Given the description of an element on the screen output the (x, y) to click on. 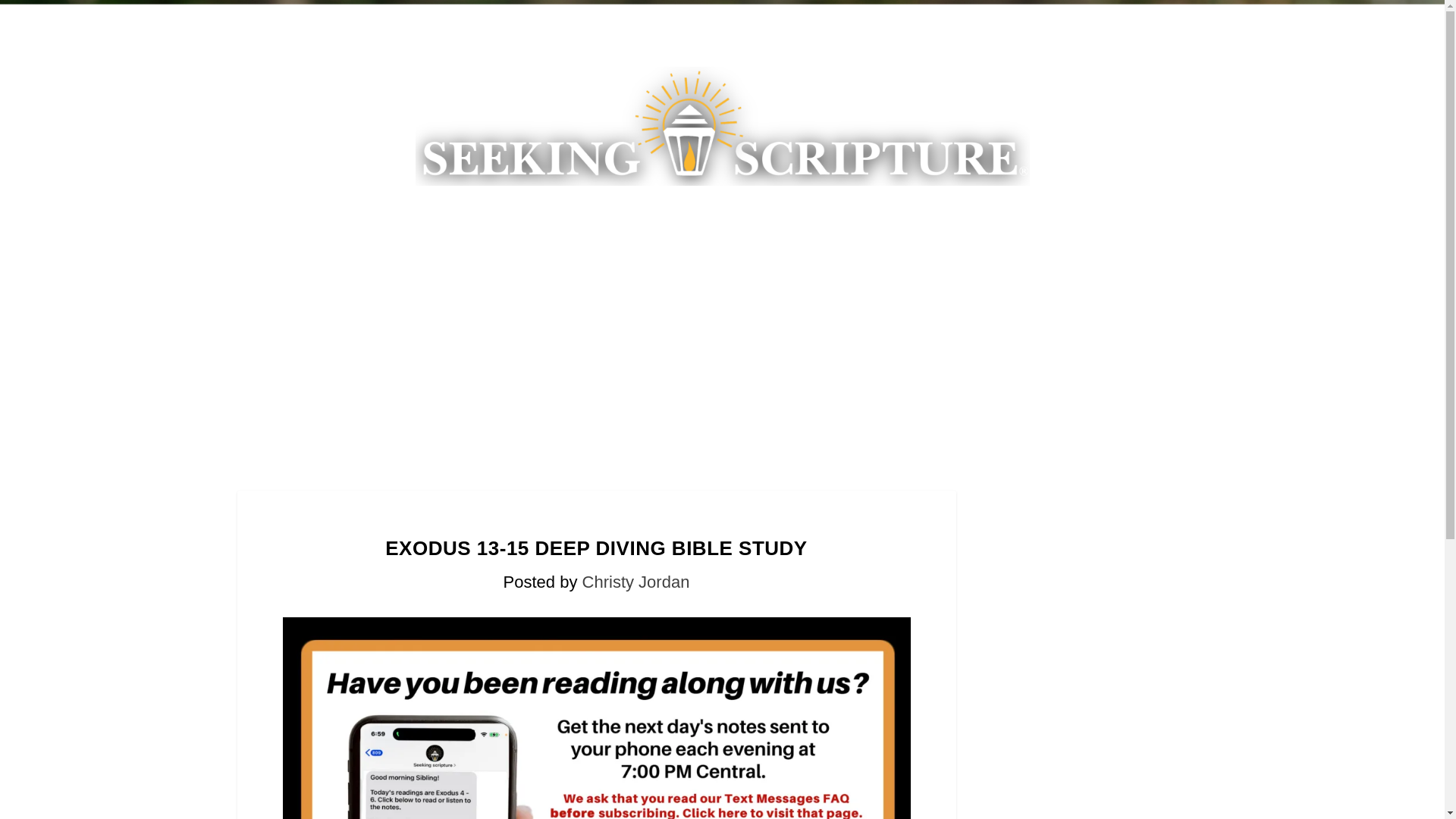
Bible Study (601, 214)
Posts by Christy Jordan (636, 581)
